Given the description of an element on the screen output the (x, y) to click on. 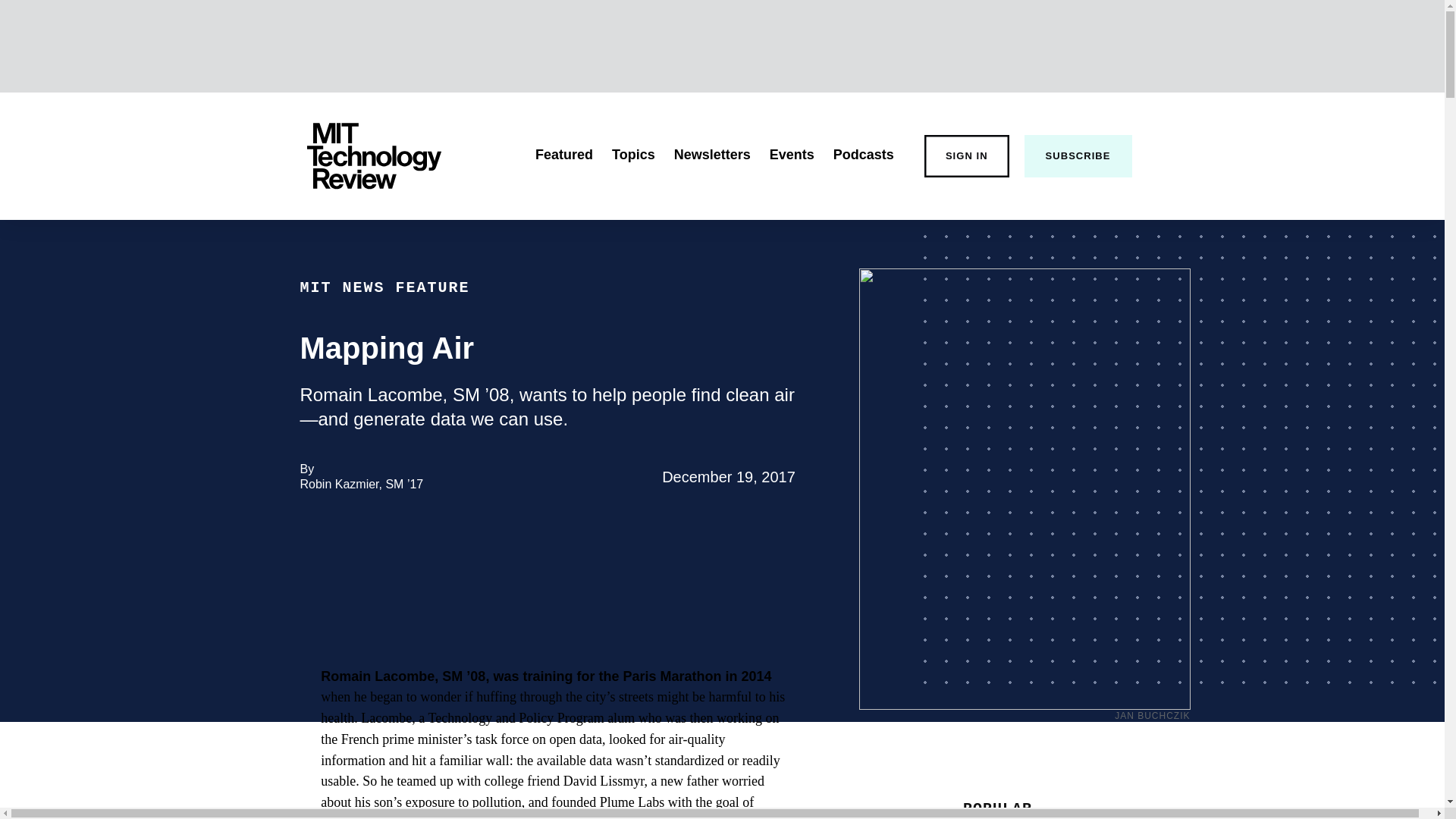
MIT Technology Review (373, 155)
MIT NEWS FEATURE (384, 287)
Events (791, 154)
SUBSCRIBE (1078, 156)
Plume Labs (632, 801)
Featured (563, 154)
Newsletters (712, 154)
Podcasts (862, 154)
SIGN IN (966, 156)
Topics (633, 154)
